Given the description of an element on the screen output the (x, y) to click on. 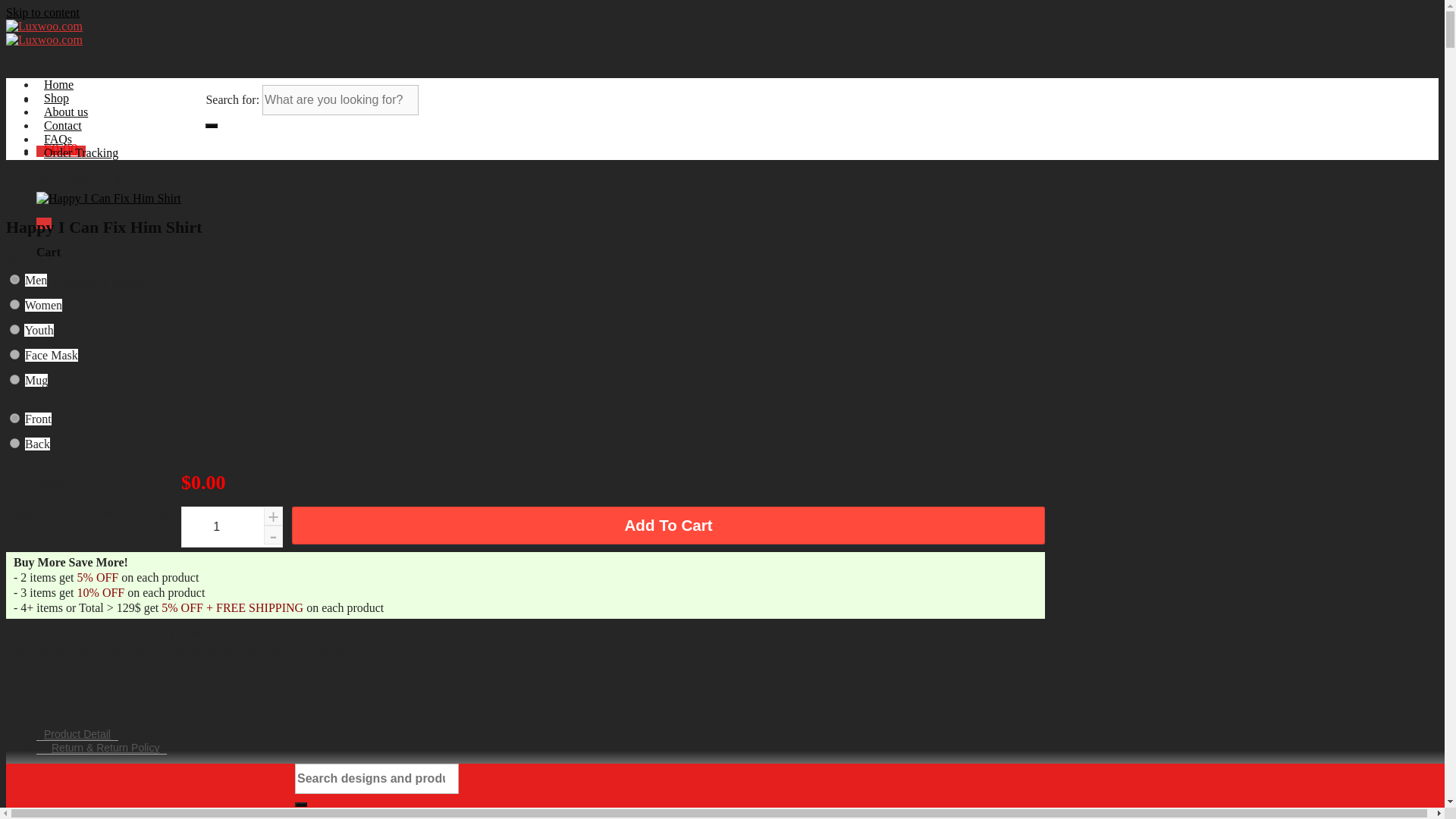
Mug (36, 379)
Back (15, 442)
Order Tracking (80, 152)
Face Mask (15, 354)
Youth (38, 329)
Cart (43, 223)
Youth (15, 329)
Men (15, 279)
Cart (60, 151)
Contact (62, 124)
